Given the description of an element on the screen output the (x, y) to click on. 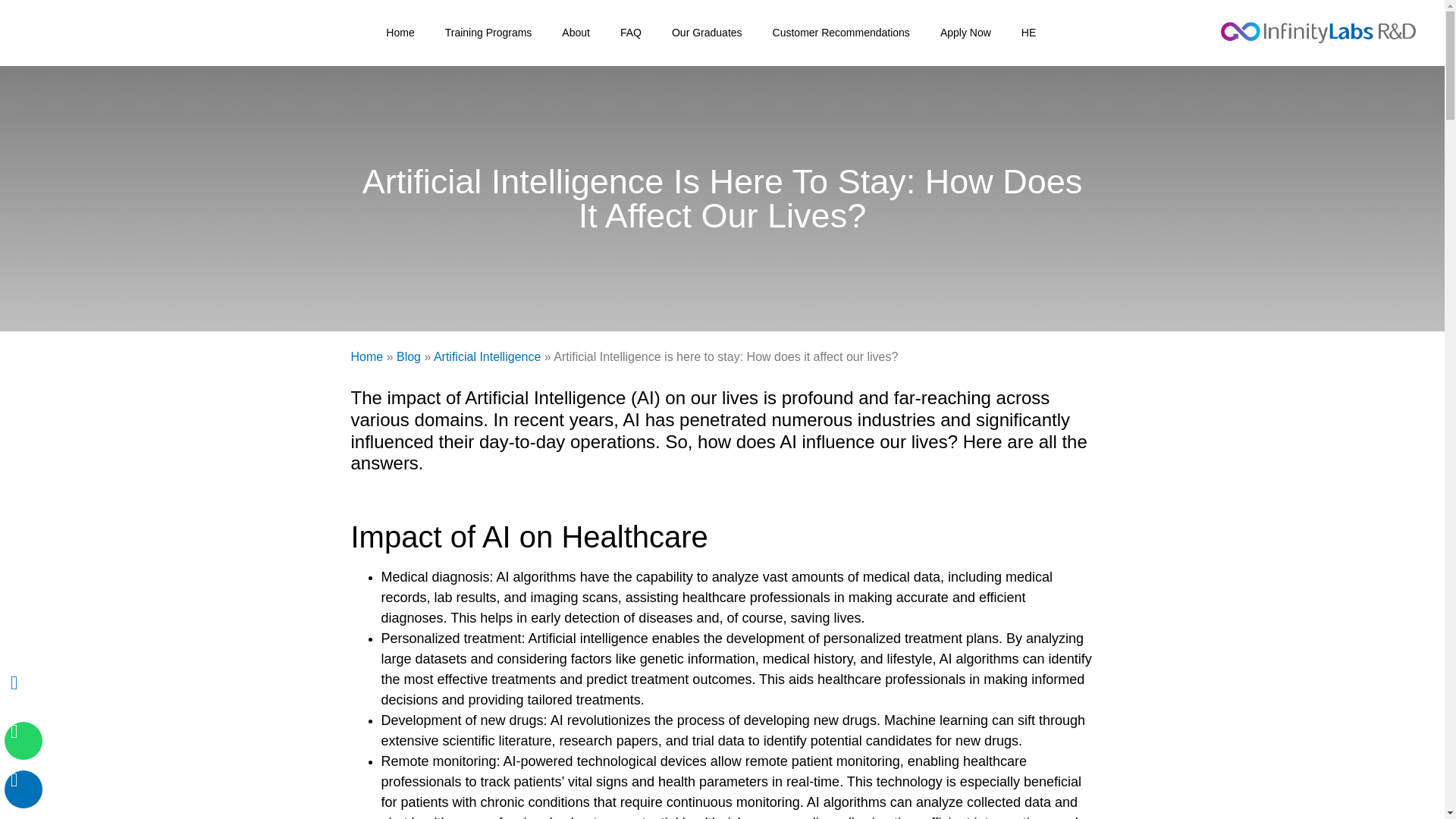
HE (1028, 32)
FAQ (630, 32)
Our Graduates (706, 32)
About (576, 32)
Training Programs (488, 32)
Apply Now (965, 32)
Customer Recommendations (840, 32)
Home (400, 32)
